Given the description of an element on the screen output the (x, y) to click on. 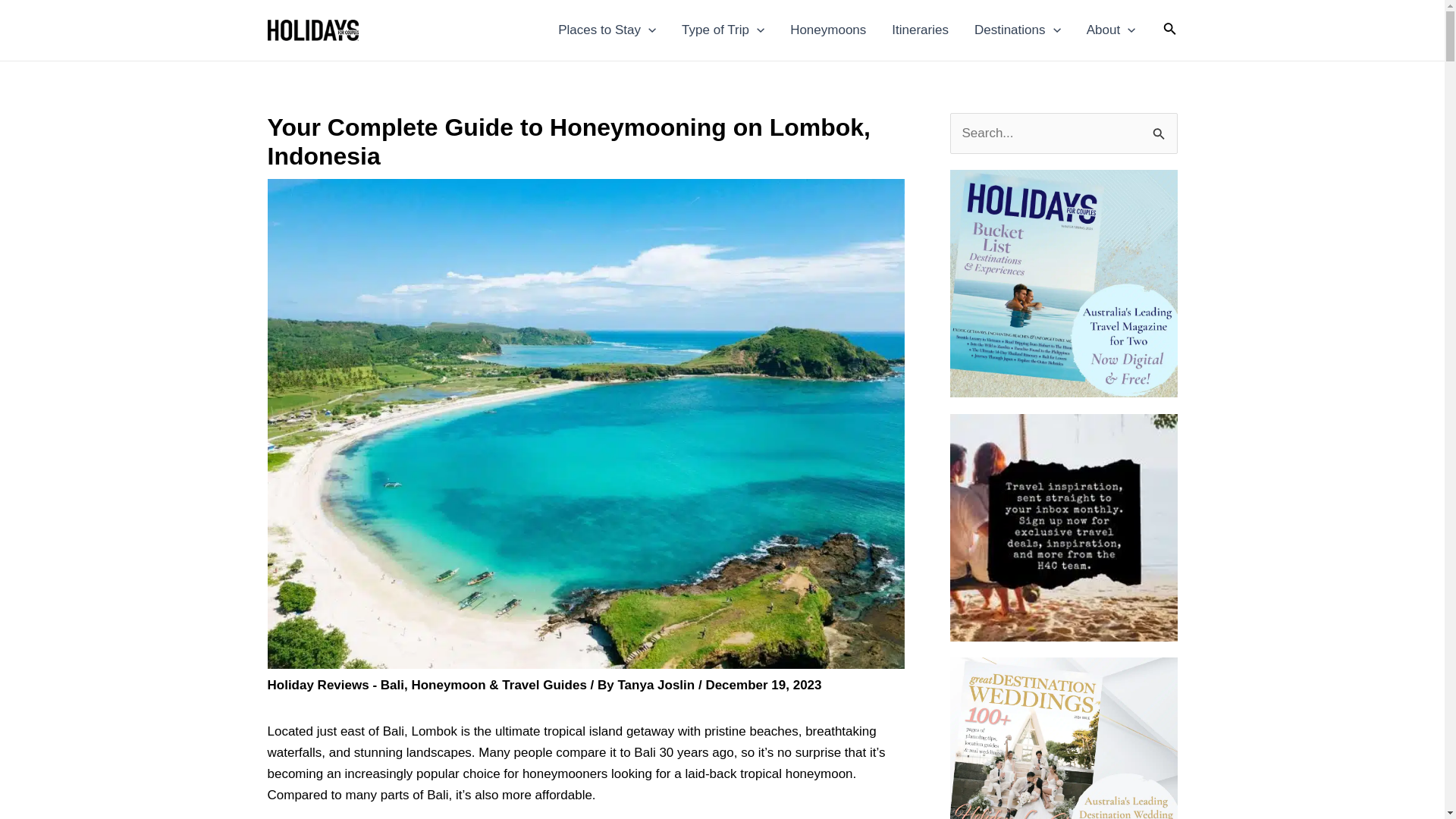
Places to Stay (606, 30)
View all posts by Tanya Joslin (657, 685)
Search (1159, 129)
Search (1159, 129)
